Given the description of an element on the screen output the (x, y) to click on. 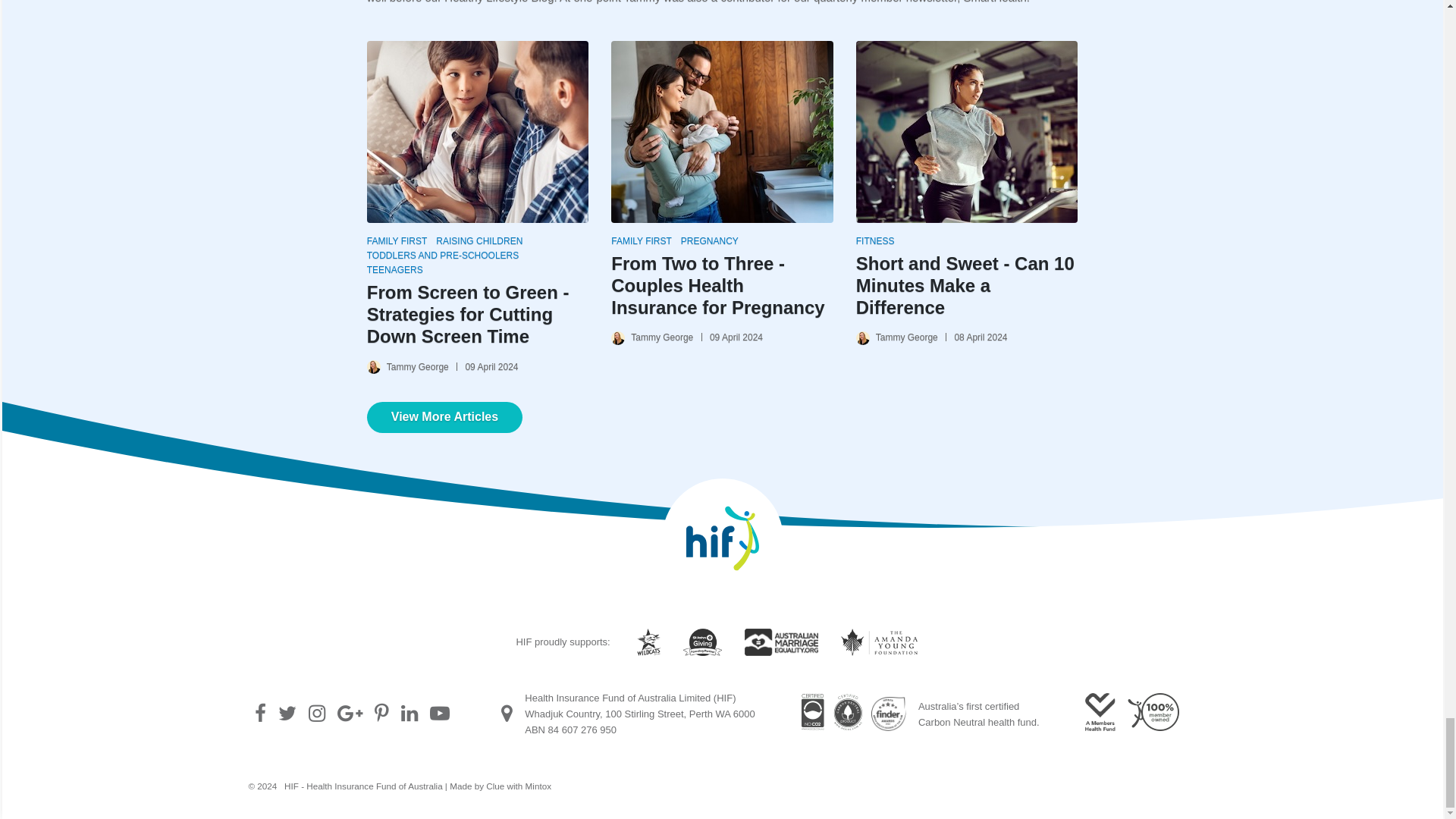
From Two to Three - Couples Health Insurance for Pregnancy (721, 131)
follow us on Youtube (438, 714)
09 April 2024 (487, 367)
Short and Sweet - Can 10 Minutes Make a Difference (966, 131)
Short and Sweet - Can 10 Minutes Make a Difference (965, 285)
09 April 2024 (731, 337)
From Two to Three - Couples Health Insurance for Pregnancy (717, 285)
08 April 2024 (975, 337)
